Given the description of an element on the screen output the (x, y) to click on. 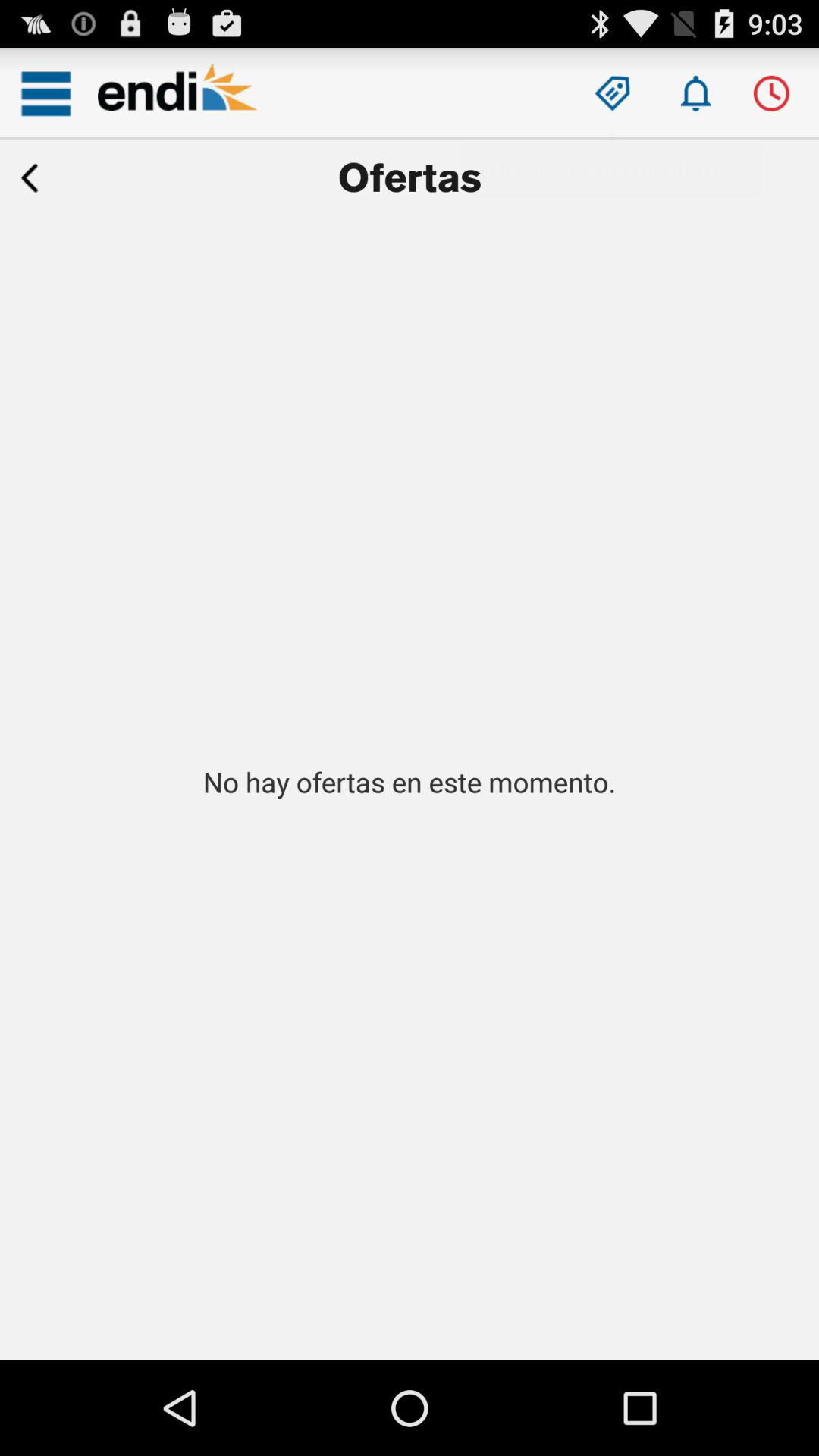
go to clock (771, 93)
